Given the description of an element on the screen output the (x, y) to click on. 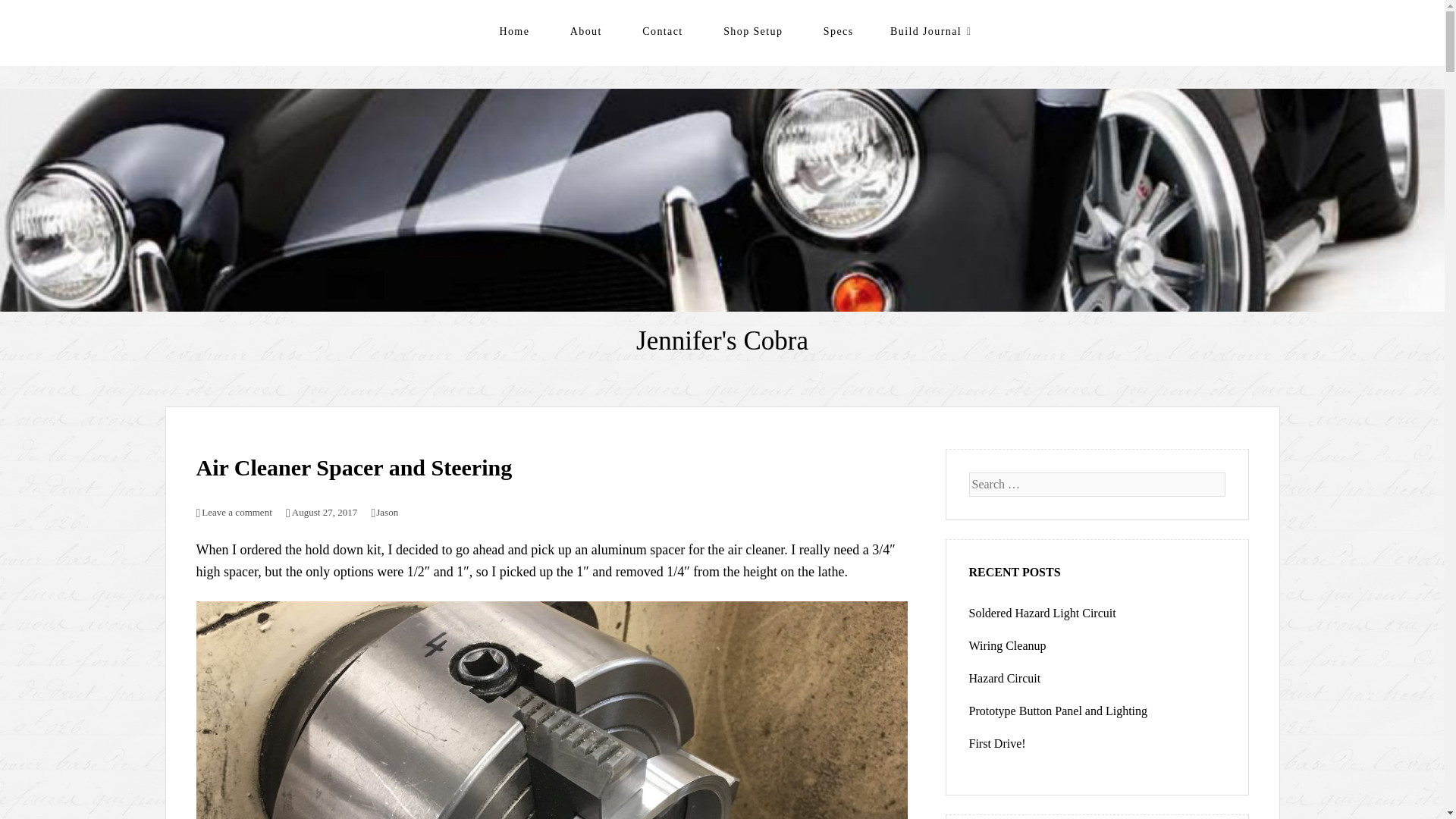
About (586, 31)
View all posts by Jason (384, 511)
Home (514, 31)
Jennifer's Cobra (722, 340)
Build Journal (927, 31)
Specs (838, 31)
12:36 am (320, 511)
August 27, 2017 (320, 511)
Contact (662, 31)
Shop Setup (753, 31)
Leave a comment (232, 511)
Jason (384, 511)
